Given the description of an element on the screen output the (x, y) to click on. 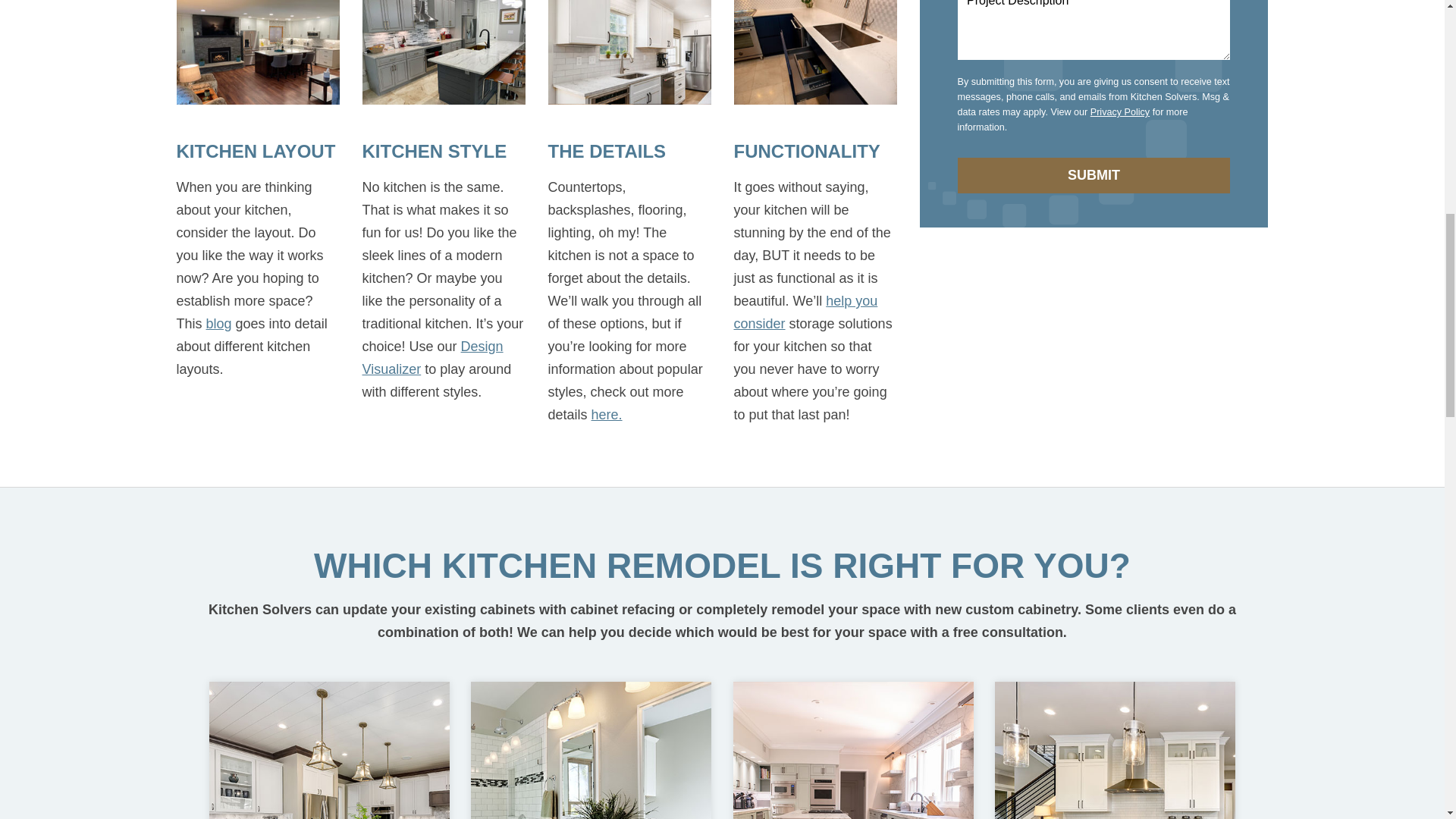
Submit (1093, 175)
Submit (1093, 175)
blog (218, 323)
here. (607, 414)
Privacy Policy (1120, 112)
help you consider (805, 312)
Design Visualizer (432, 357)
